Given the description of an element on the screen output the (x, y) to click on. 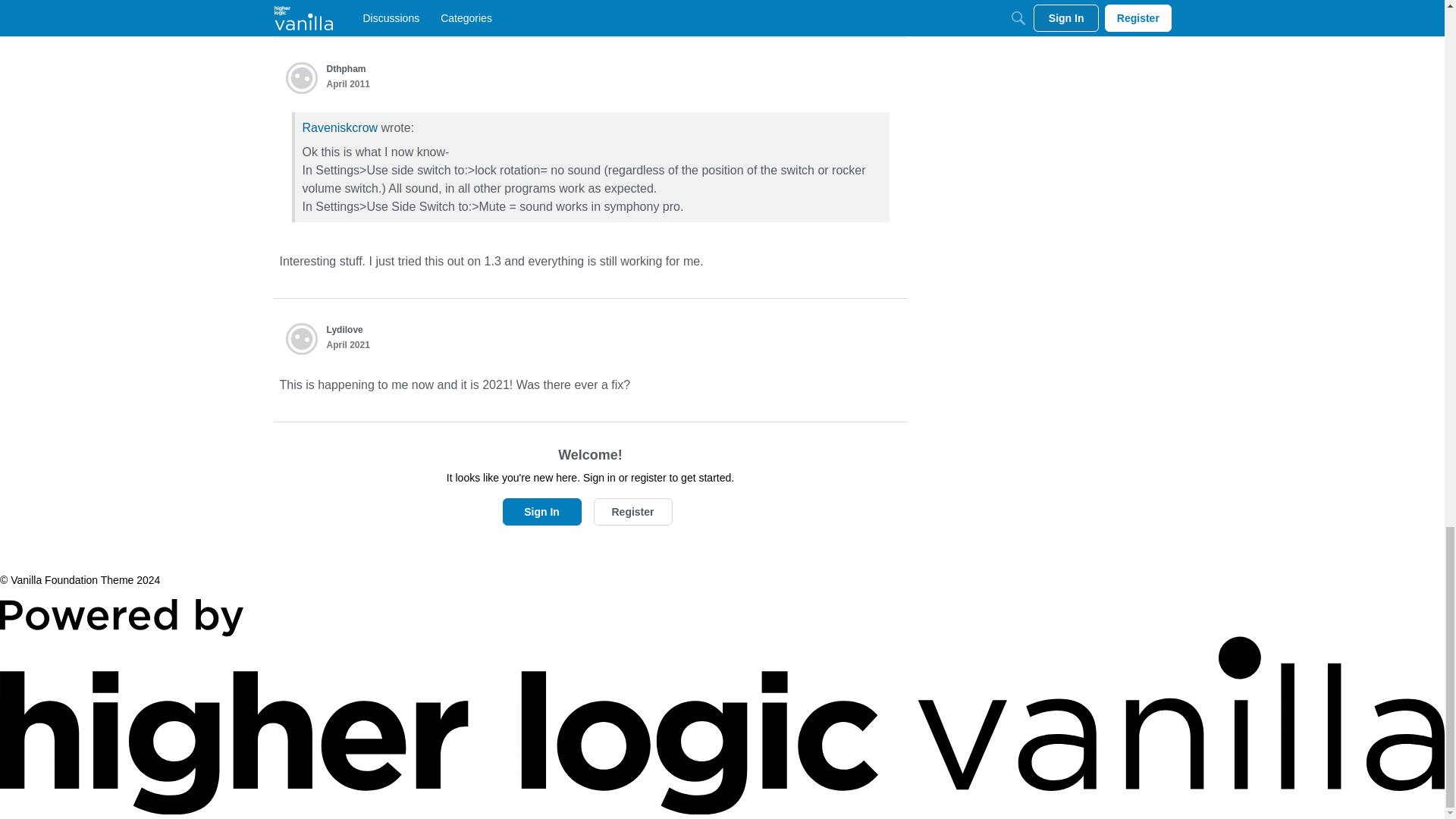
Dthpham (301, 78)
Lydilove (344, 329)
Raveniskcrow (339, 127)
April 2011 (347, 83)
Dthpham (345, 68)
